Given the description of an element on the screen output the (x, y) to click on. 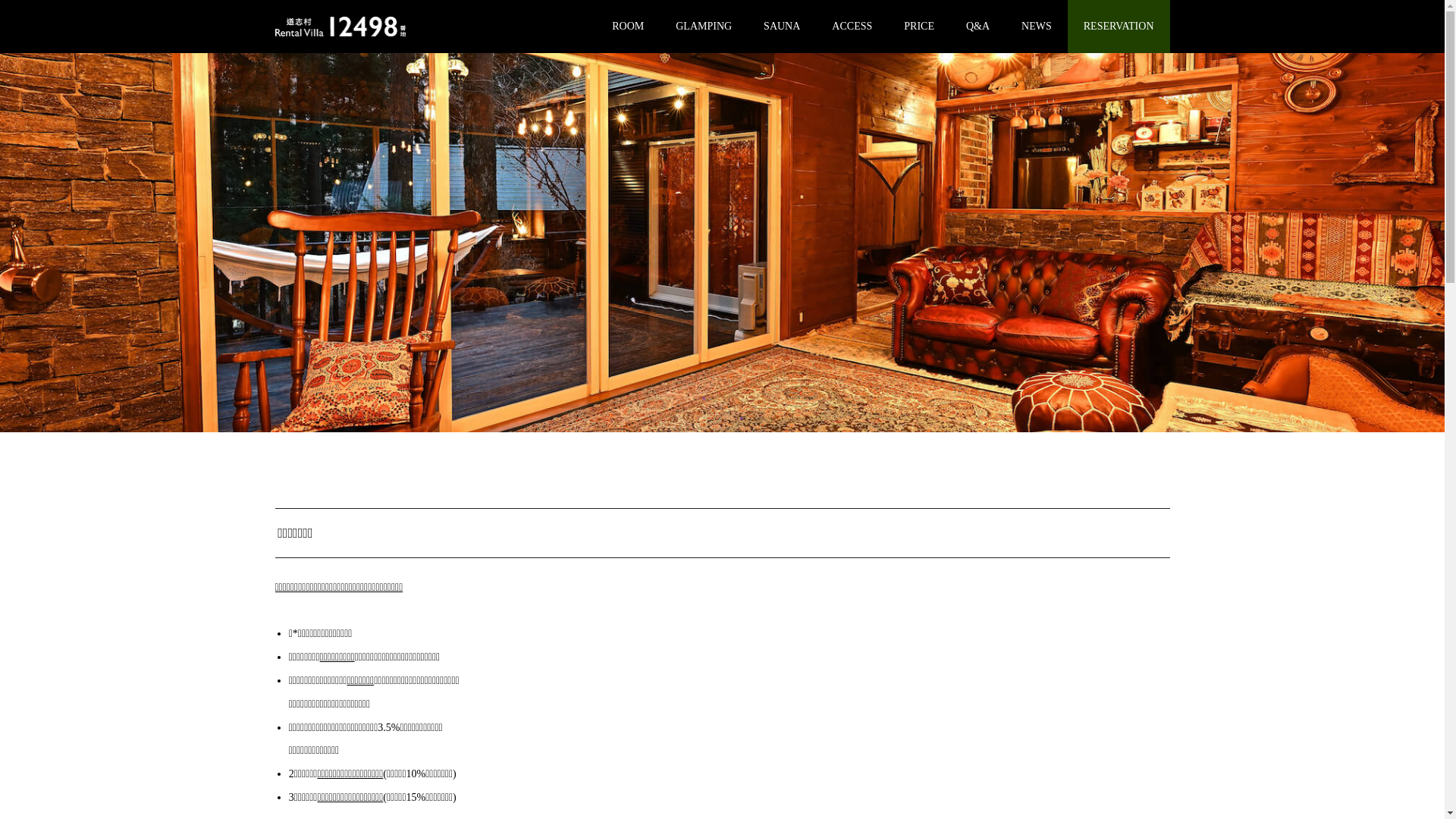
ACCESS Element type: text (851, 26)
GLAMPING Element type: text (703, 26)
SAUNA Element type: text (781, 26)
PRICE Element type: text (919, 26)
ROOM Element type: text (627, 26)
RESERVATION Element type: text (1118, 26)
Q&A Element type: text (977, 26)
NEWS Element type: text (1036, 26)
